Given the description of an element on the screen output the (x, y) to click on. 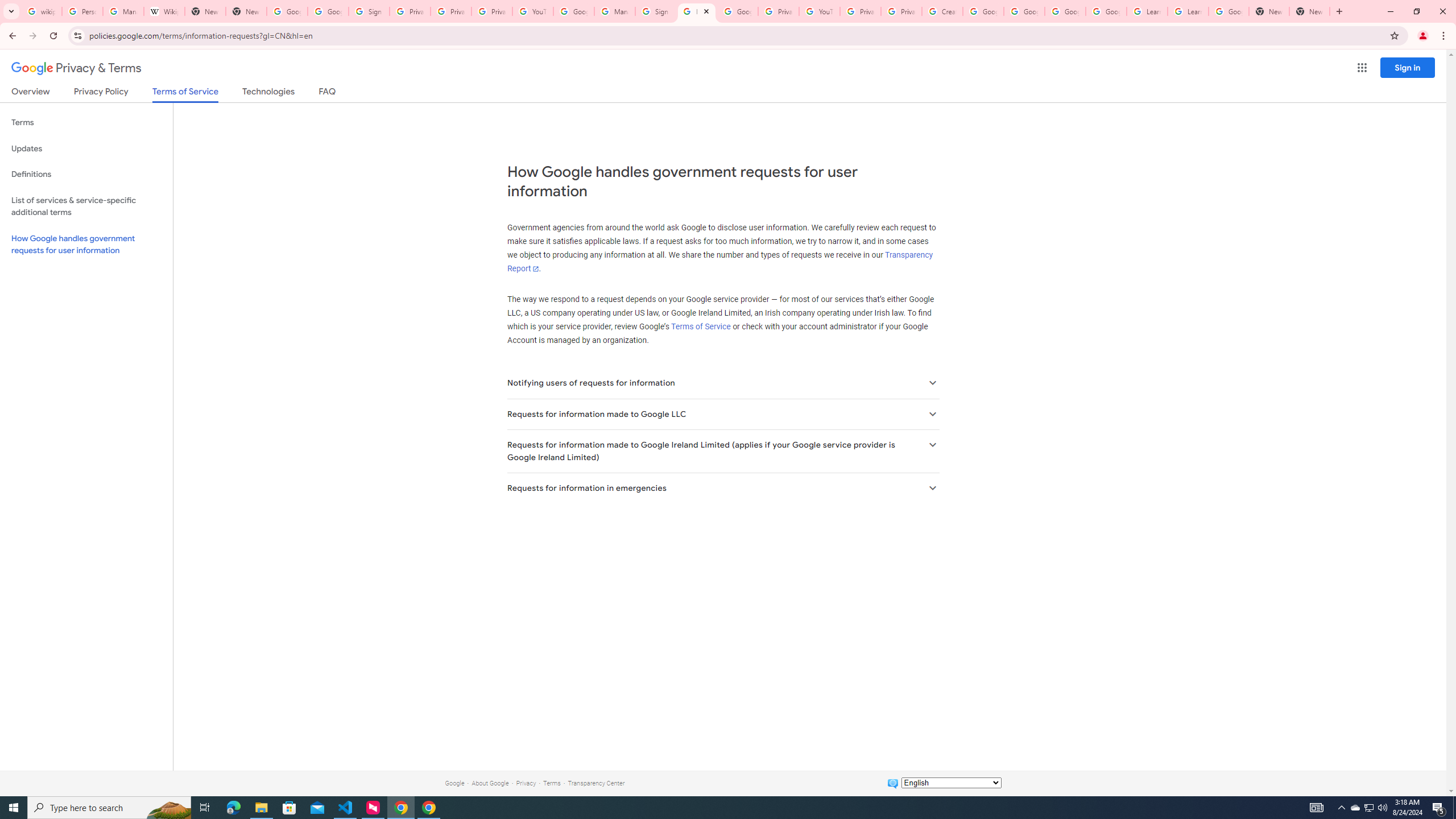
List of services & service-specific additional terms (86, 206)
Google Account Help (1105, 11)
Manage your Location History - Google Search Help (122, 11)
Google Drive: Sign-in (327, 11)
New Tab (1309, 11)
